Given the description of an element on the screen output the (x, y) to click on. 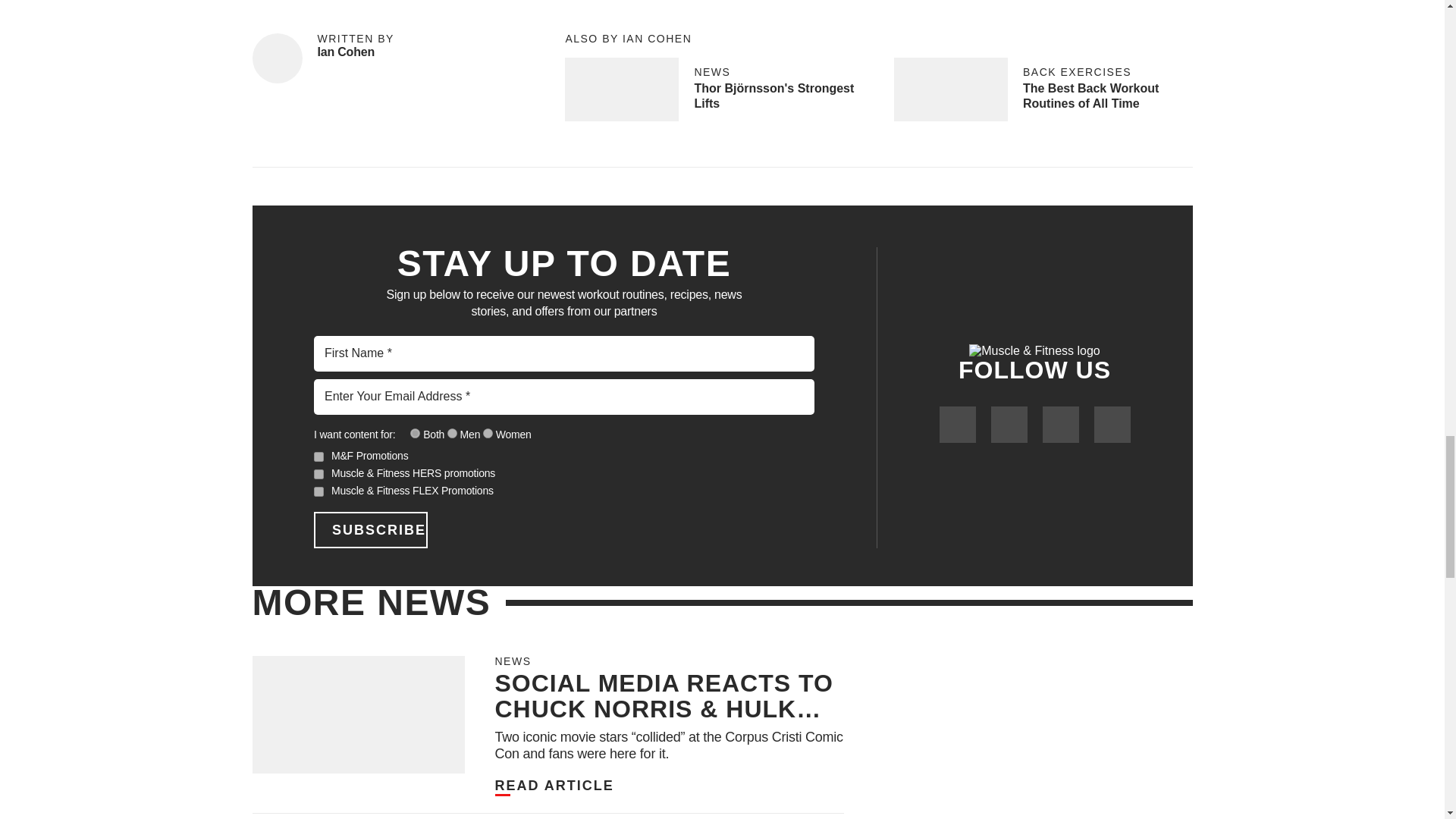
757 (451, 433)
Posts by Ian Cohen (345, 51)
Muscle and Fitness on YouTube (1060, 424)
Muscle and Fitness on Facebook (957, 424)
755 (415, 433)
Muscle and Fitness on Twitter (1008, 424)
759 (488, 433)
